Given the description of an element on the screen output the (x, y) to click on. 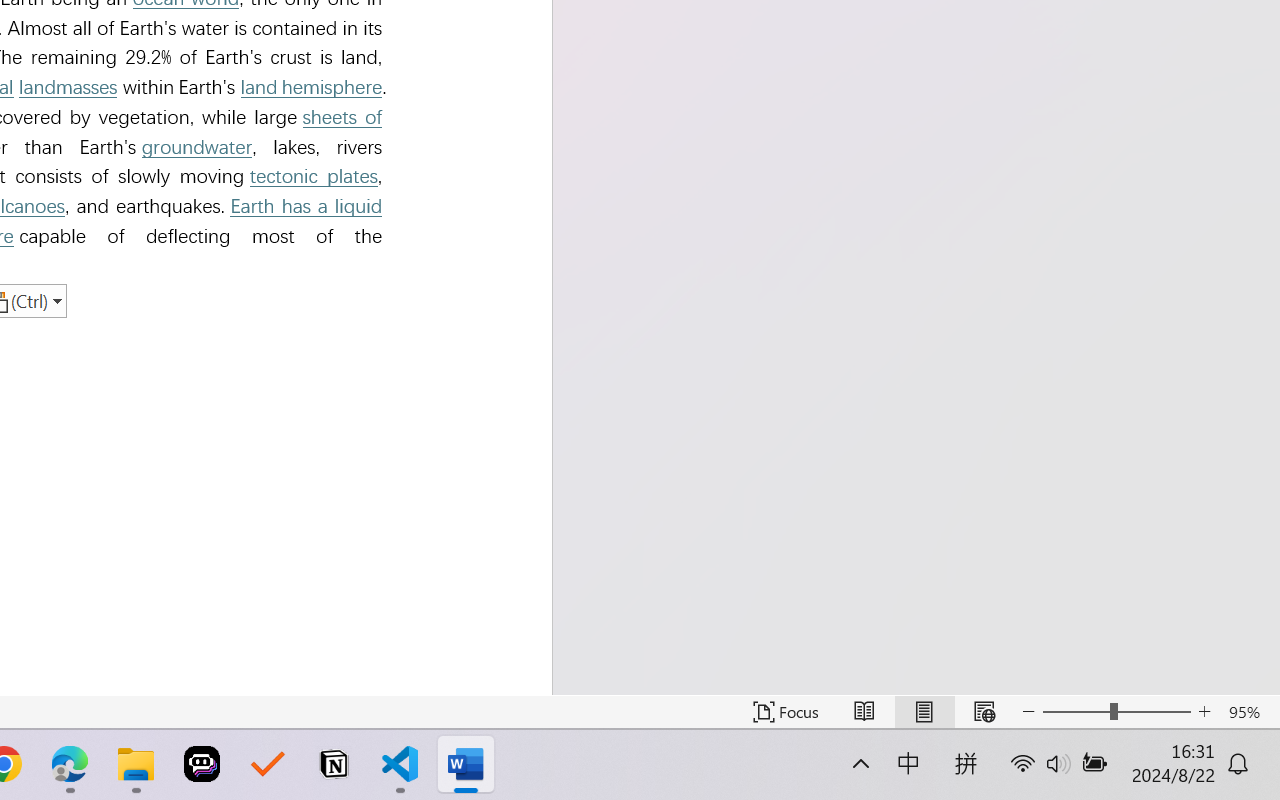
groundwater (197, 147)
Zoom 95% (1249, 712)
tectonic plates (313, 176)
landmasses (67, 86)
land hemisphere (310, 86)
